Given the description of an element on the screen output the (x, y) to click on. 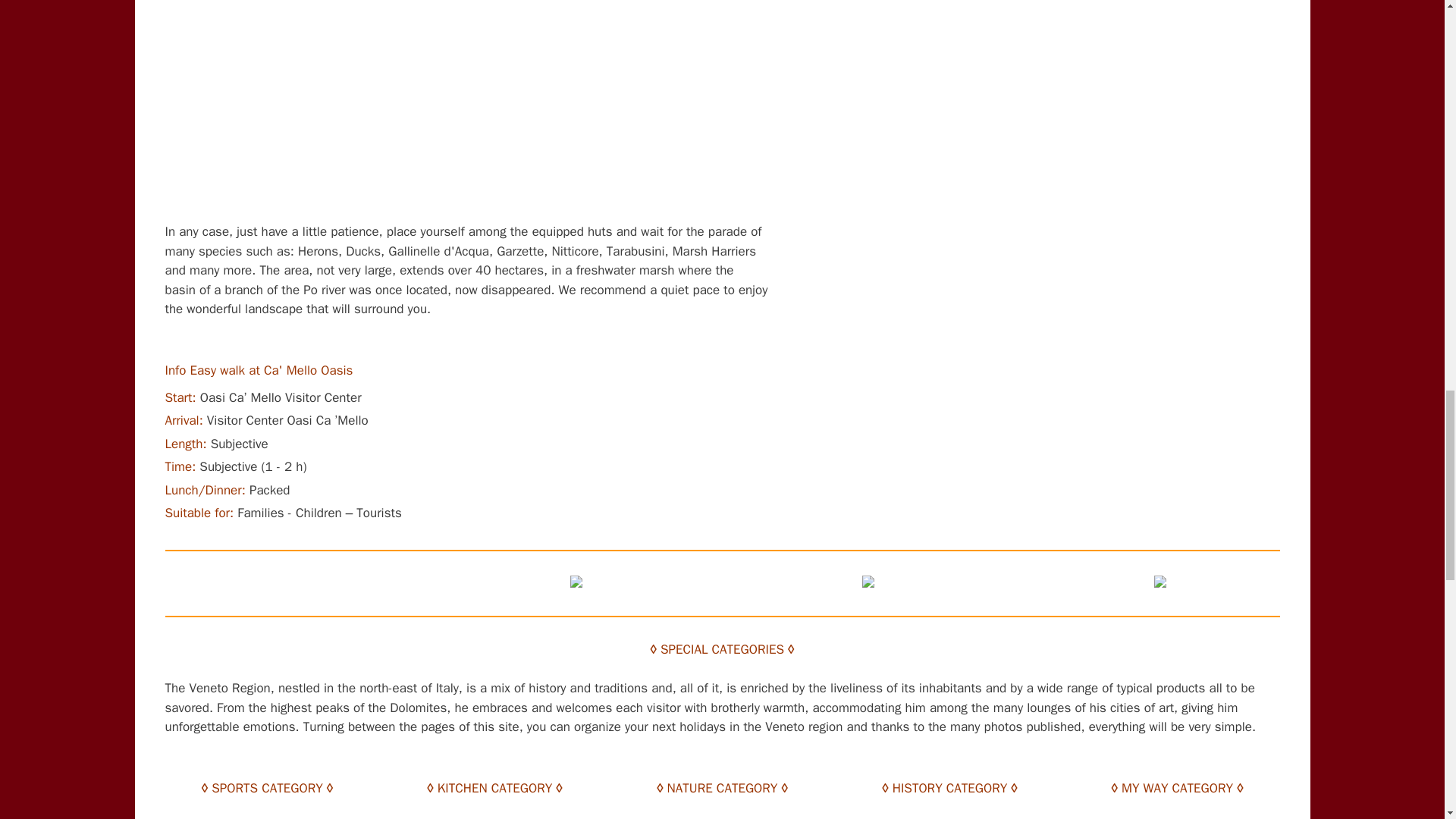
The easy walk at Ca' Mello Oasis  (466, 110)
